Given the description of an element on the screen output the (x, y) to click on. 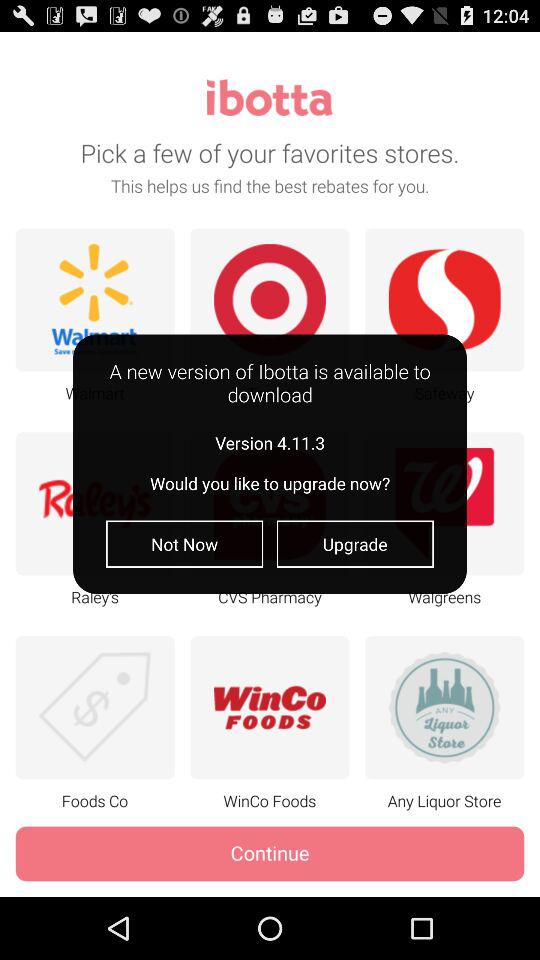
turn on item to the left of the upgrade (184, 543)
